Given the description of an element on the screen output the (x, y) to click on. 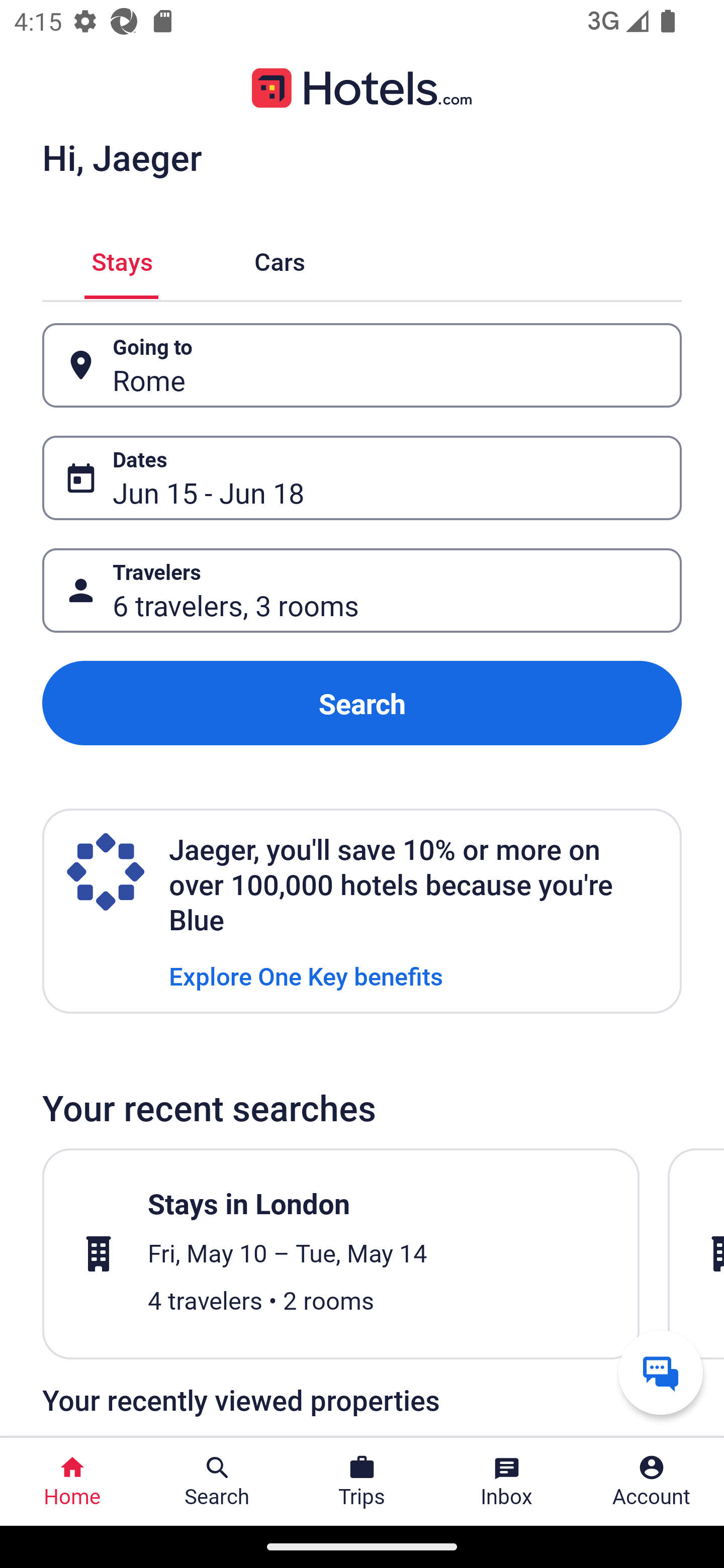
Hi, Jaeger (121, 156)
Cars (279, 259)
Going to Button Rome (361, 365)
Dates Button Jun 15 - Jun 18 (361, 477)
Travelers Button 6 travelers, 3 rooms (361, 590)
Search (361, 702)
Get help from a virtual agent (660, 1371)
Search Search Button (216, 1481)
Trips Trips Button (361, 1481)
Inbox Inbox Button (506, 1481)
Account Profile. Button (651, 1481)
